Given the description of an element on the screen output the (x, y) to click on. 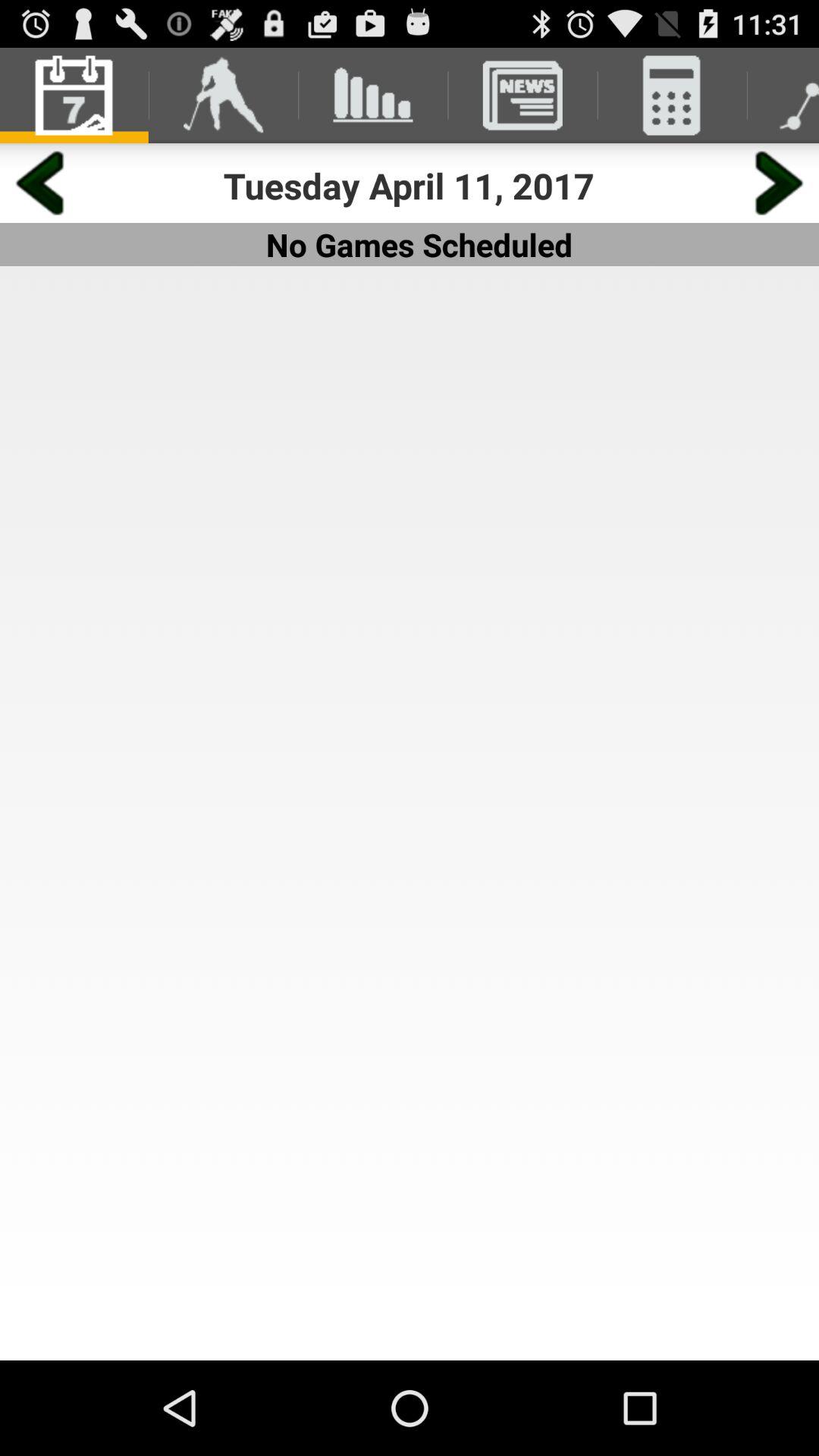
next (779, 182)
